Given the description of an element on the screen output the (x, y) to click on. 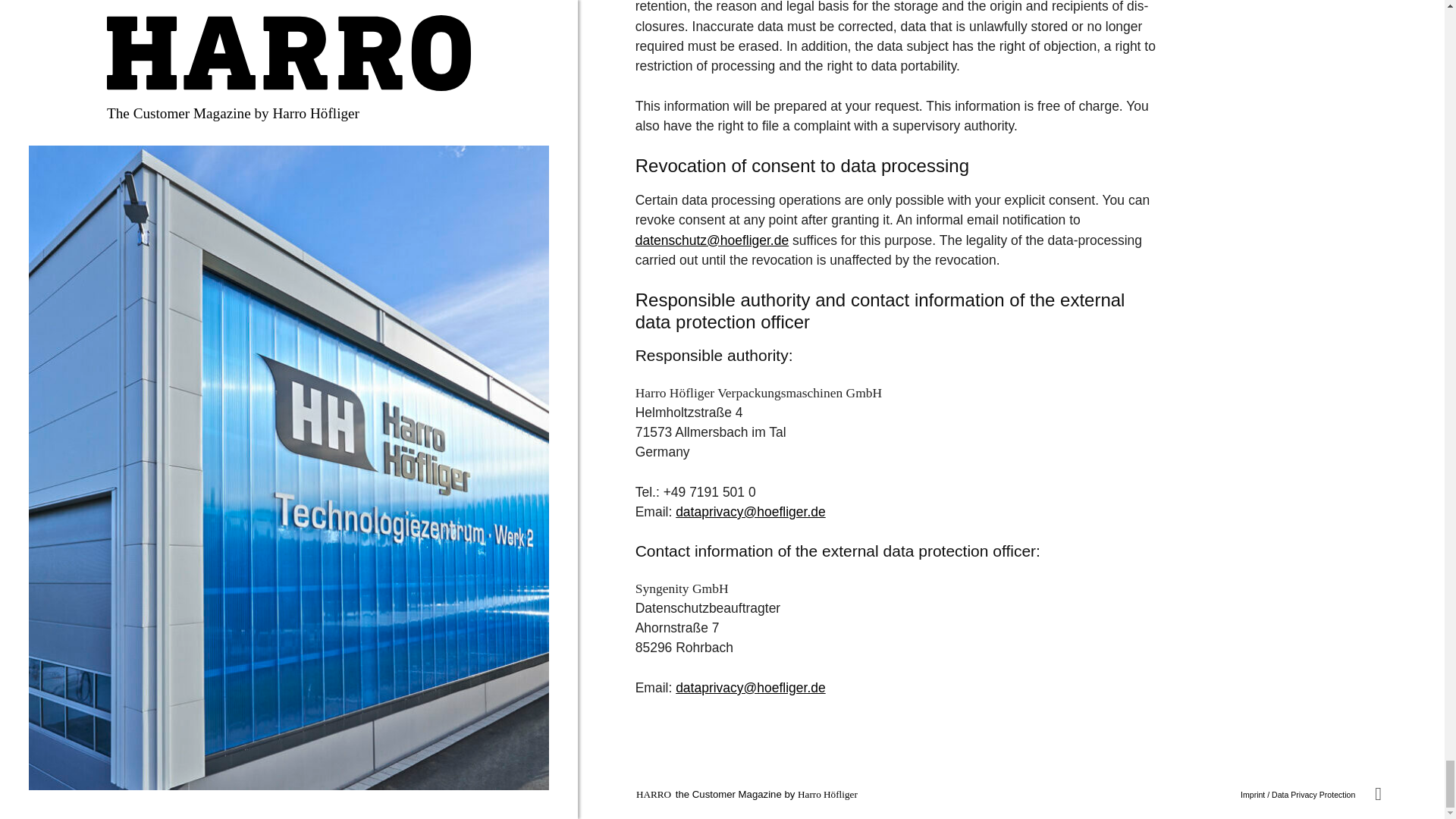
Home (653, 794)
